Given the description of an element on the screen output the (x, y) to click on. 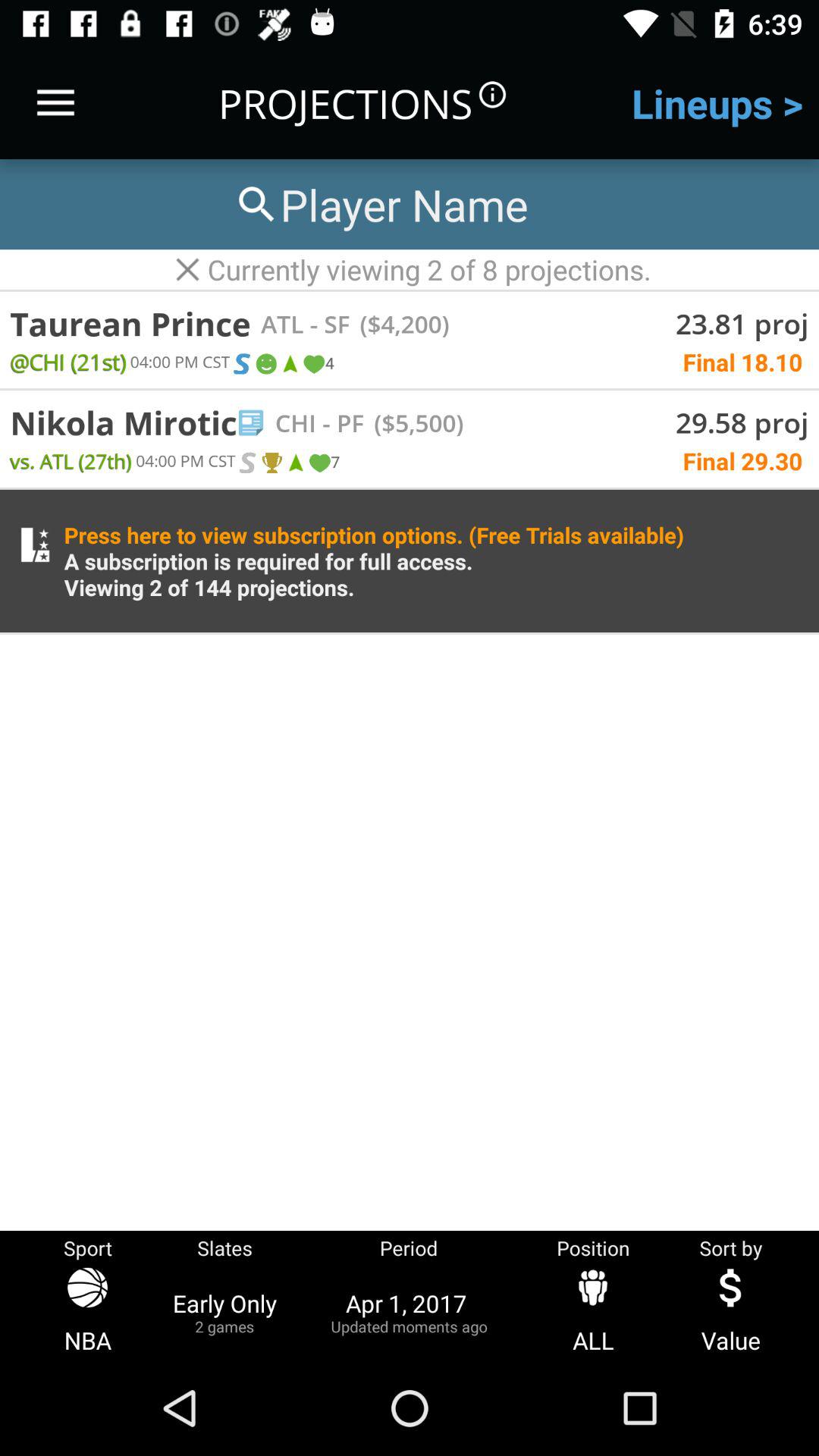
enter a player name (380, 204)
